Given the description of an element on the screen output the (x, y) to click on. 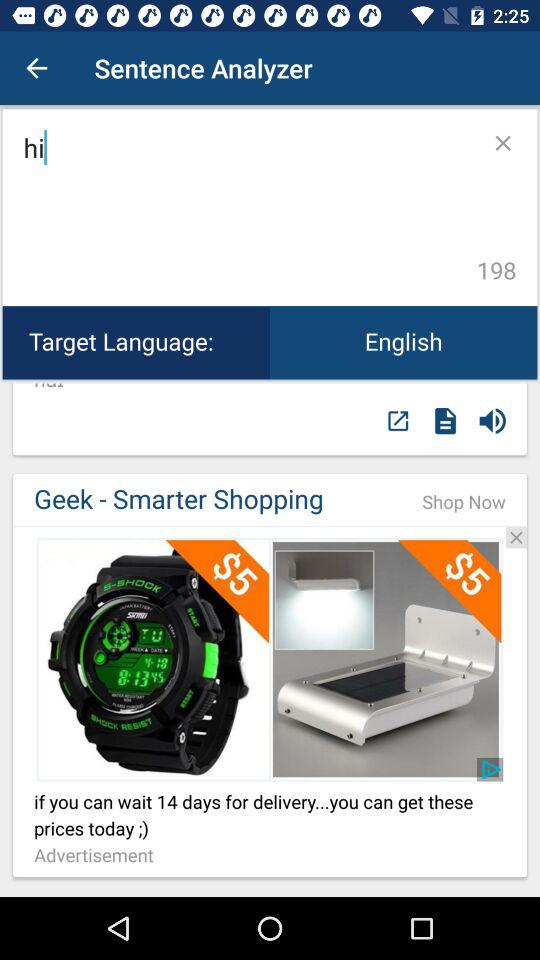
select item next to shop now icon (207, 499)
